Given the description of an element on the screen output the (x, y) to click on. 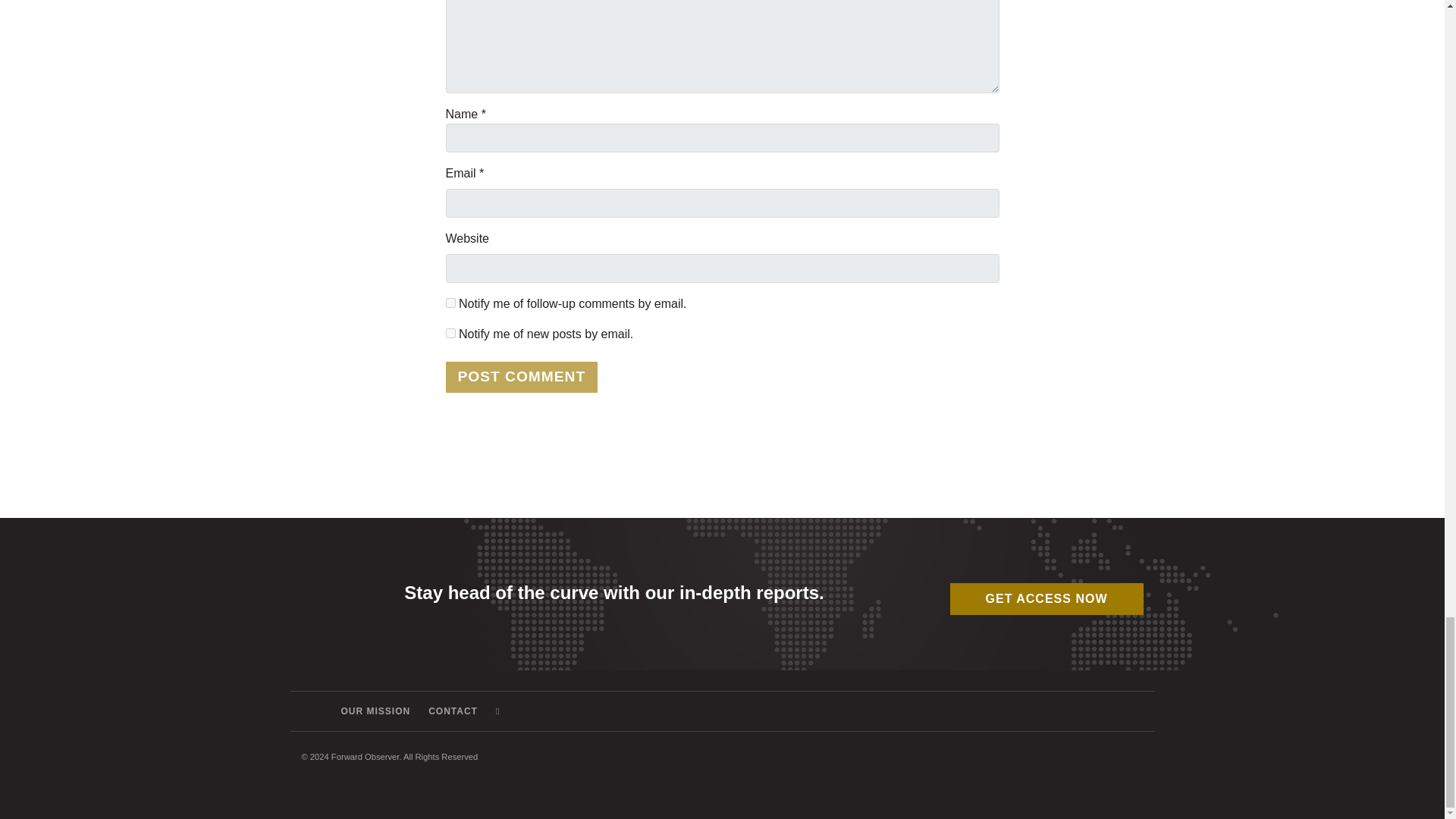
GET ACCESS NOW (1045, 599)
CONTACT (452, 711)
OUR MISSION (375, 711)
Post Comment (521, 377)
subscribe (450, 333)
subscribe (450, 302)
Post Comment (521, 377)
